Given the description of an element on the screen output the (x, y) to click on. 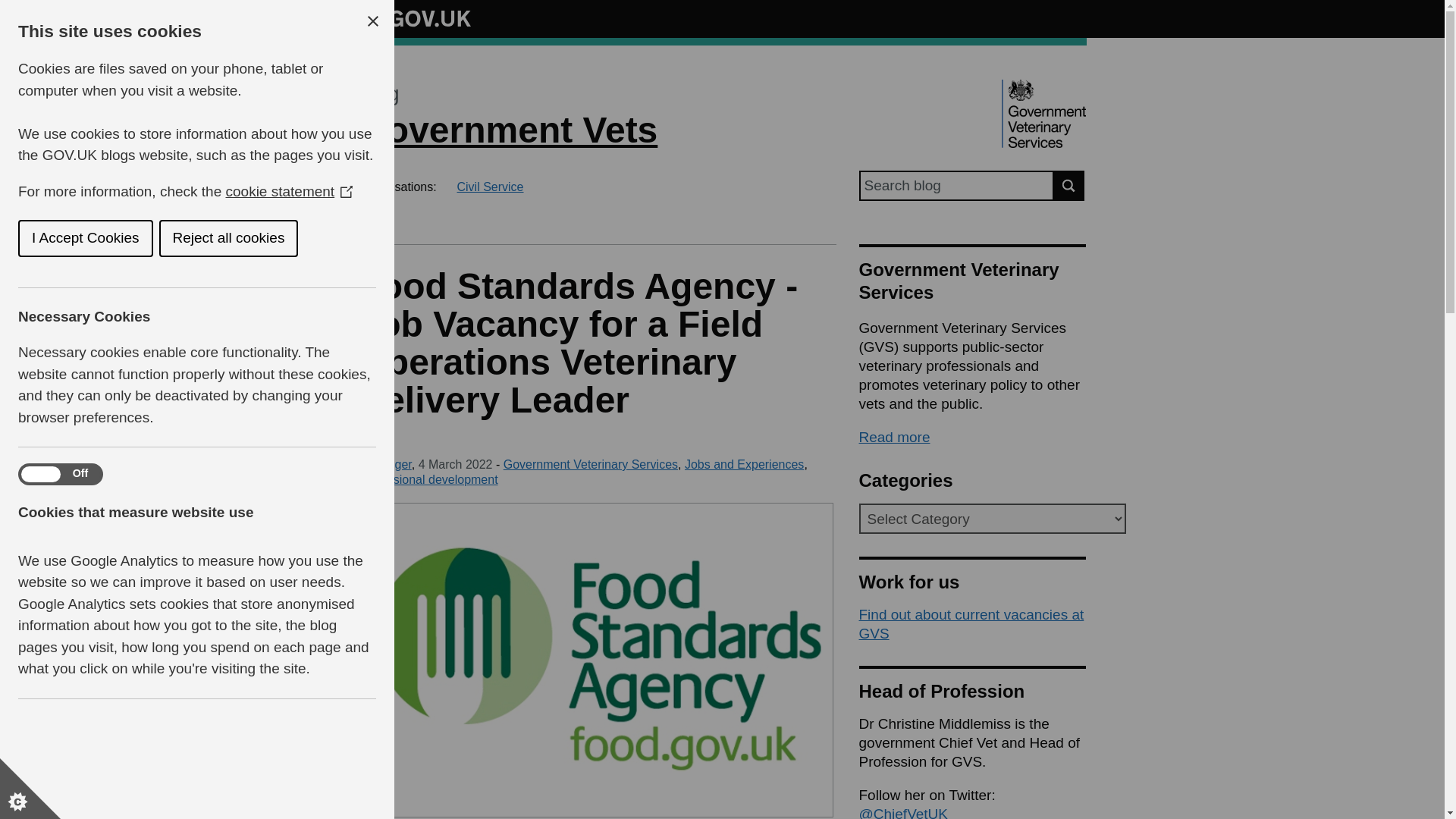
Read more (894, 437)
Skip to main content (11, 7)
Reject all cookies (50, 238)
GOV.UK (414, 15)
Blog (378, 93)
kenmeger (384, 463)
Search (1069, 185)
Professional development (427, 479)
Civil Service (489, 186)
Go to the GOV.UK homepage (414, 18)
Find out about current vacancies at GVS (971, 623)
Government Vets (508, 129)
GOV.UK (414, 18)
Jobs and Experiences (743, 463)
Government Veterinary Services (590, 463)
